Given the description of an element on the screen output the (x, y) to click on. 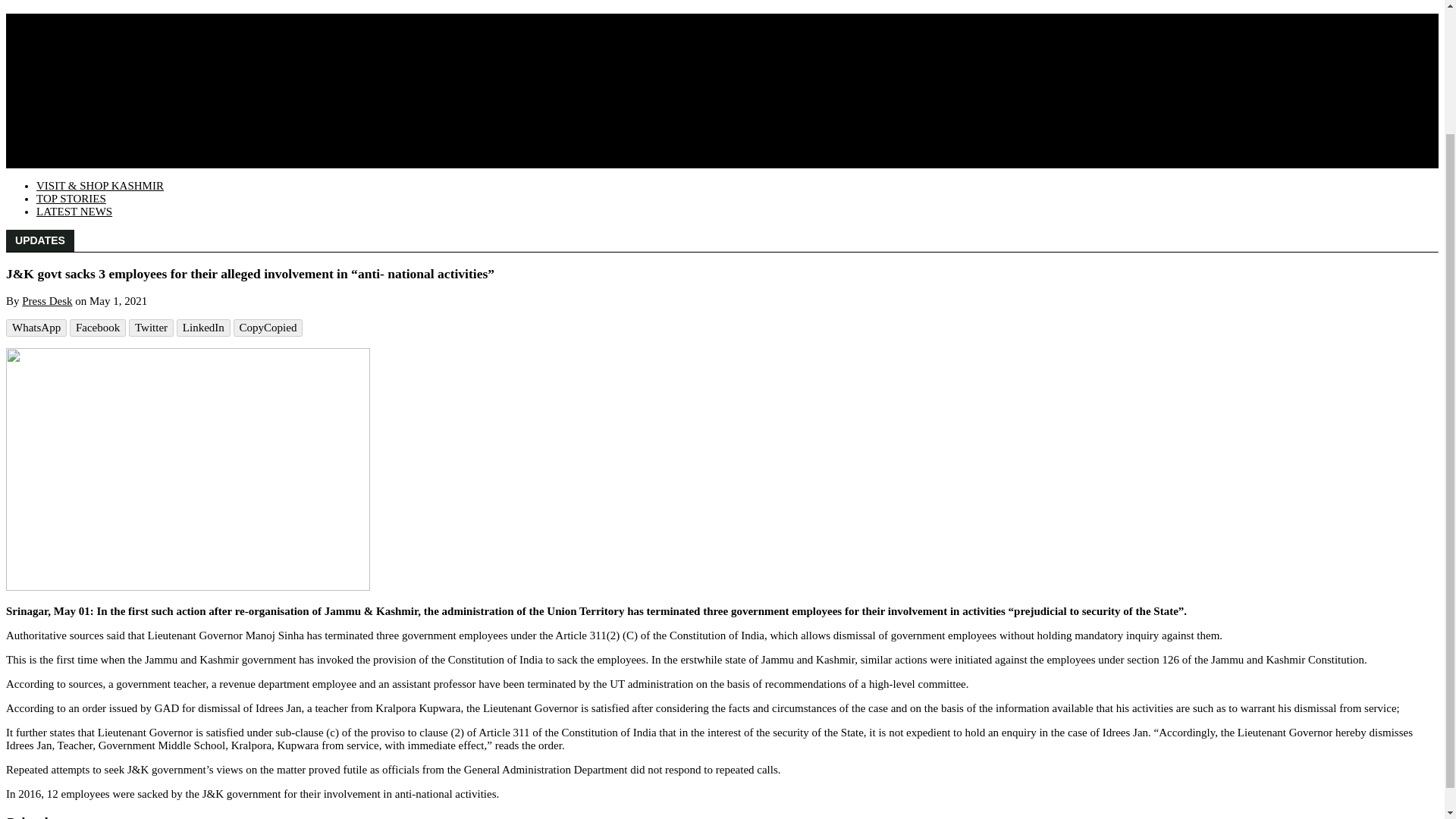
LATEST NEWS (74, 211)
FEATURES (64, 32)
MULTIMEDIA (71, 135)
TOP STORIES (71, 198)
PHOTO GALLERY (113, 148)
OPINION (59, 45)
KASHMIR (62, 19)
VIDEOS (86, 161)
BUSINESS (63, 122)
NOTICE BOARD (78, 58)
